Given the description of an element on the screen output the (x, y) to click on. 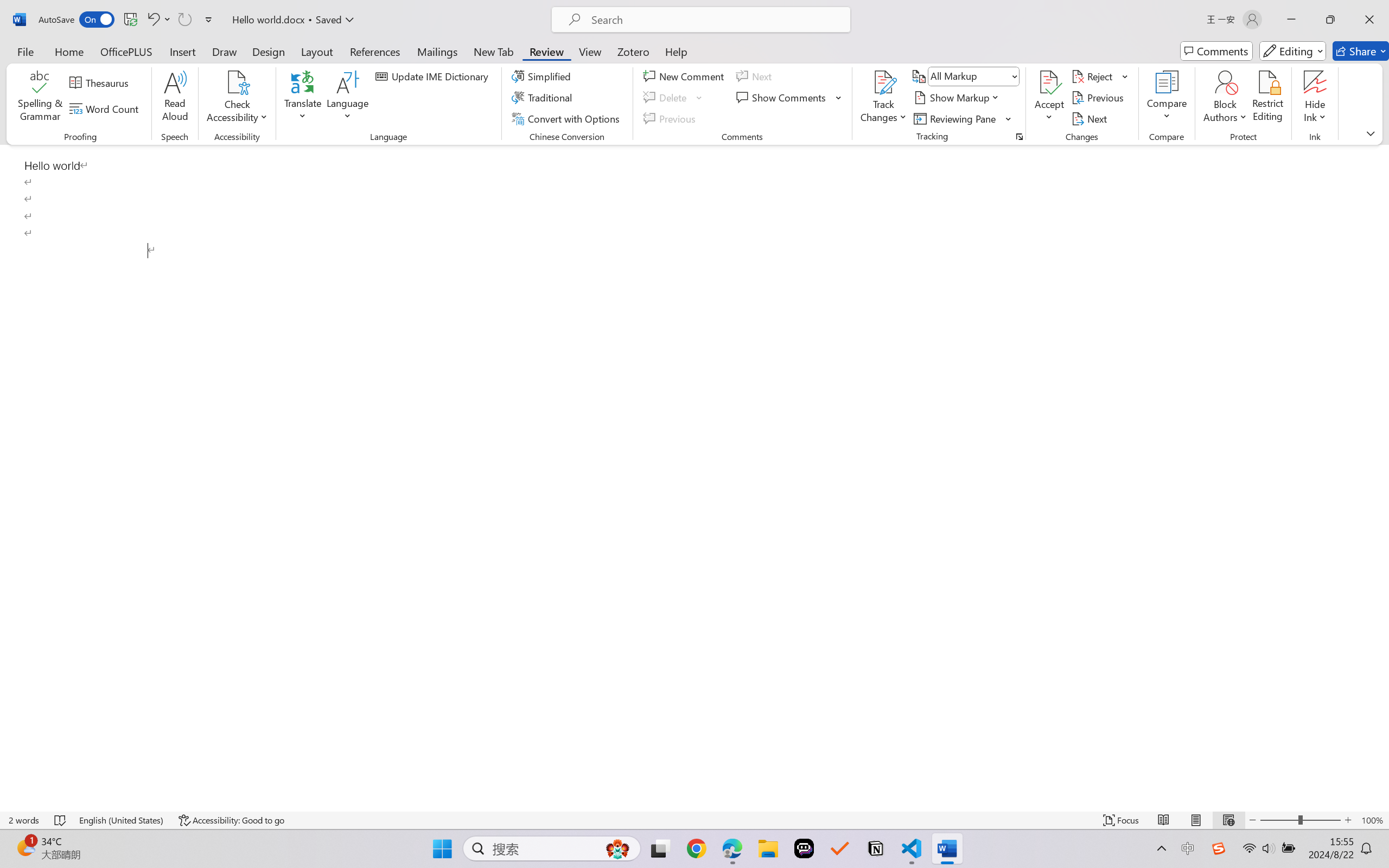
Share (1360, 51)
Language (347, 97)
Display for Review (973, 75)
Design (268, 51)
Editing (1292, 50)
AutomationID: DynamicSearchBoxGleamImage (617, 848)
Ribbon Display Options (1370, 132)
Save (130, 19)
Mailings (437, 51)
Show Comments (788, 97)
Word Count 2 words (23, 819)
AutomationID: BadgeAnchorLargeTicker (24, 847)
Word Count (105, 108)
OfficePLUS (126, 51)
Zoom In (1348, 819)
